Given the description of an element on the screen output the (x, y) to click on. 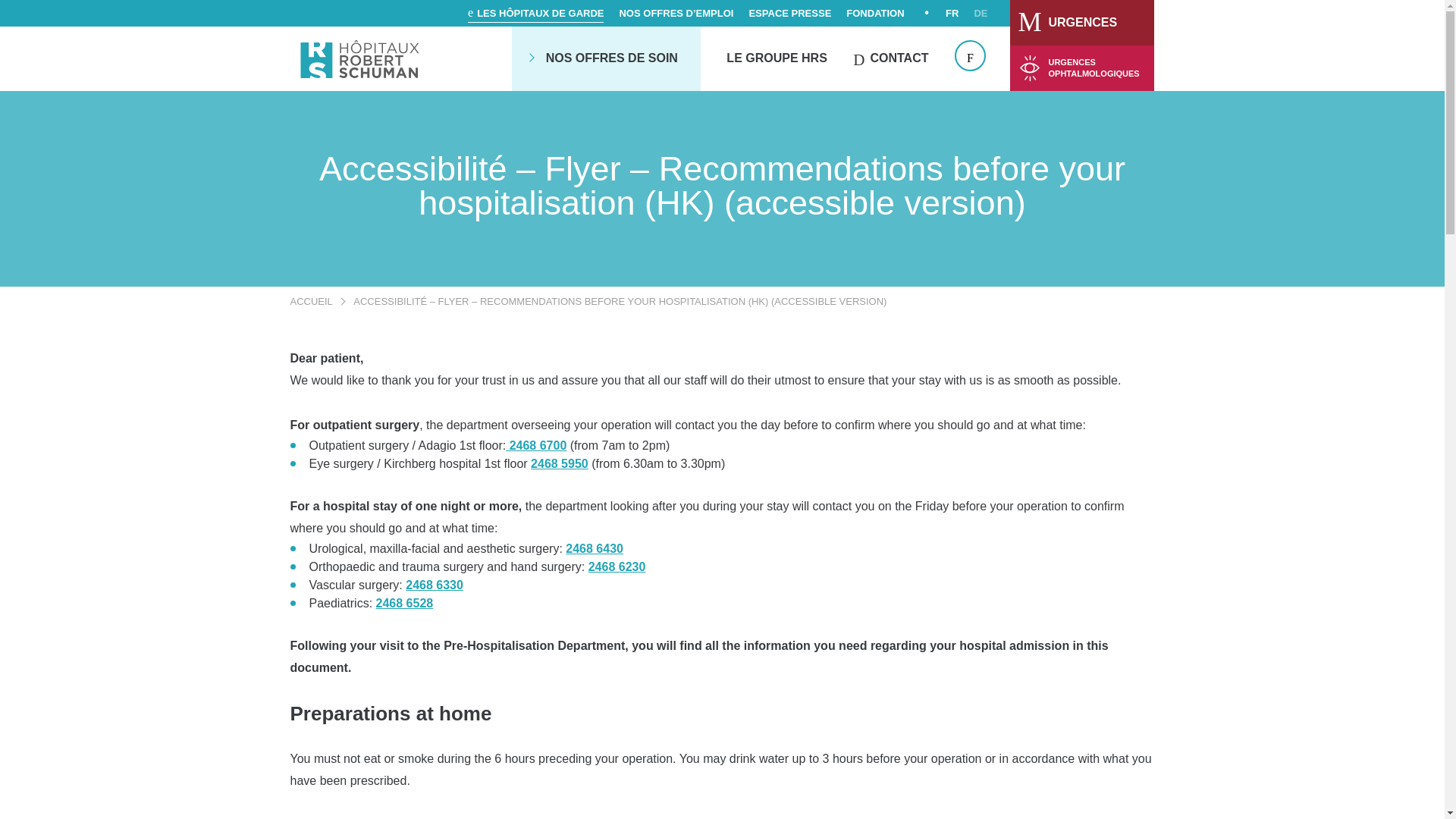
URGENCES (1082, 22)
URGENCES OPHTALMOLOGIQUES (1082, 67)
ESPACE PRESSE (789, 12)
LE GROUPE HRS (776, 57)
DE (980, 12)
CONTACT (890, 57)
NOS OFFRES DE SOIN (612, 57)
FONDATION (874, 12)
ACCUEIL (316, 301)
FR (951, 12)
